Given the description of an element on the screen output the (x, y) to click on. 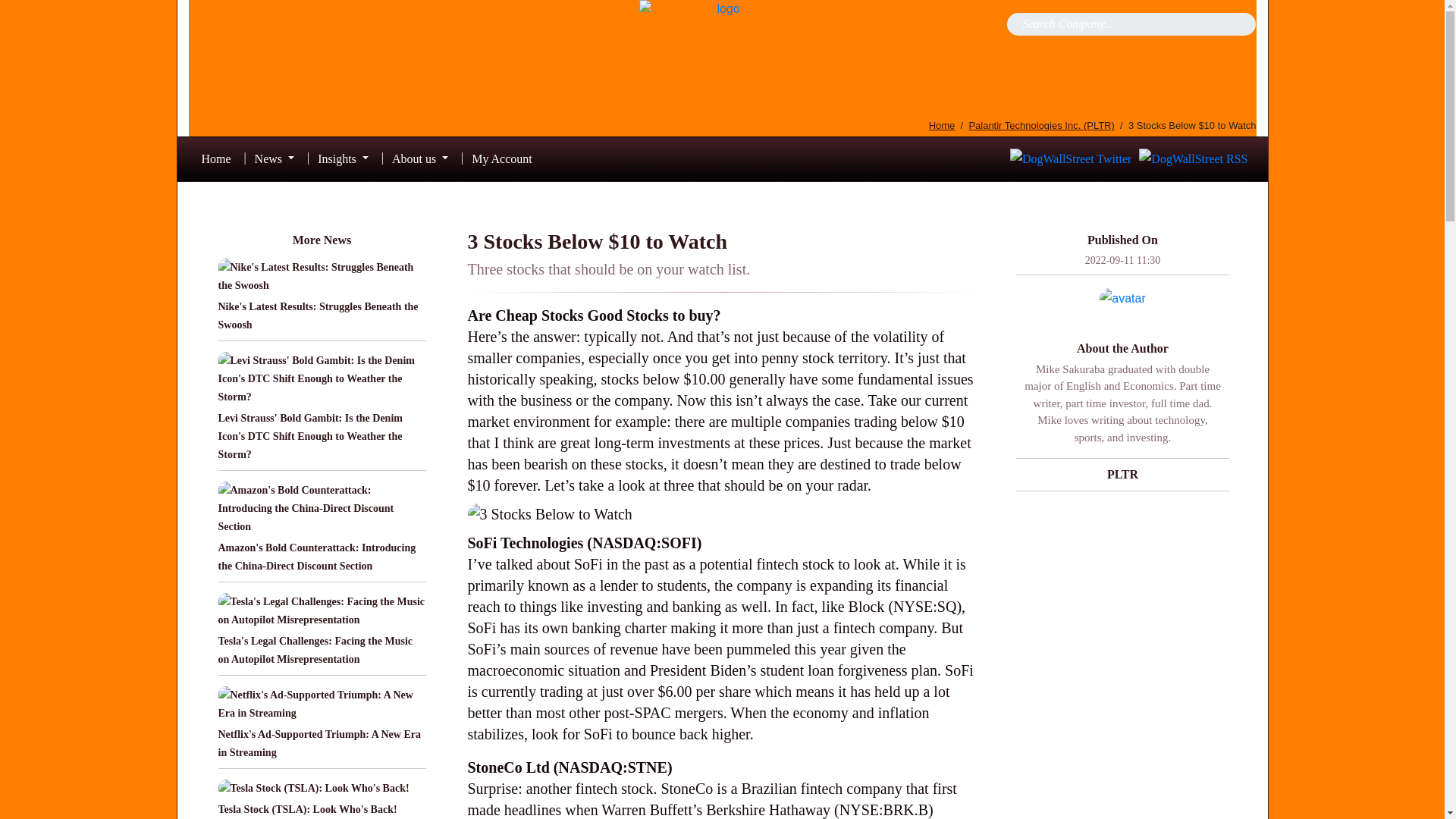
News (274, 159)
Home (216, 159)
My Account (501, 159)
Nike's Latest Results: Struggles Beneath the Swoosh (318, 315)
About us (419, 159)
Insights (342, 159)
Home (941, 125)
